Given the description of an element on the screen output the (x, y) to click on. 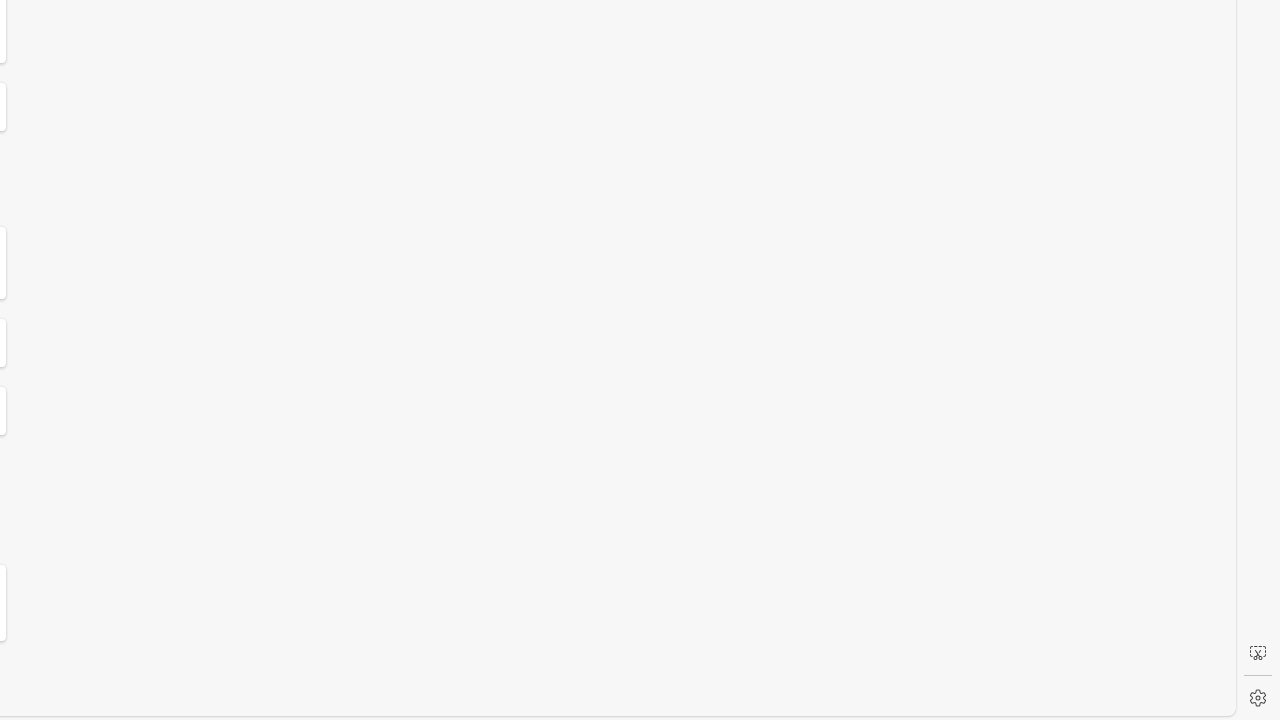
Settings Element type: push-button (1258, 698)
Screenshot Element type: push-button (1258, 653)
